Given the description of an element on the screen output the (x, y) to click on. 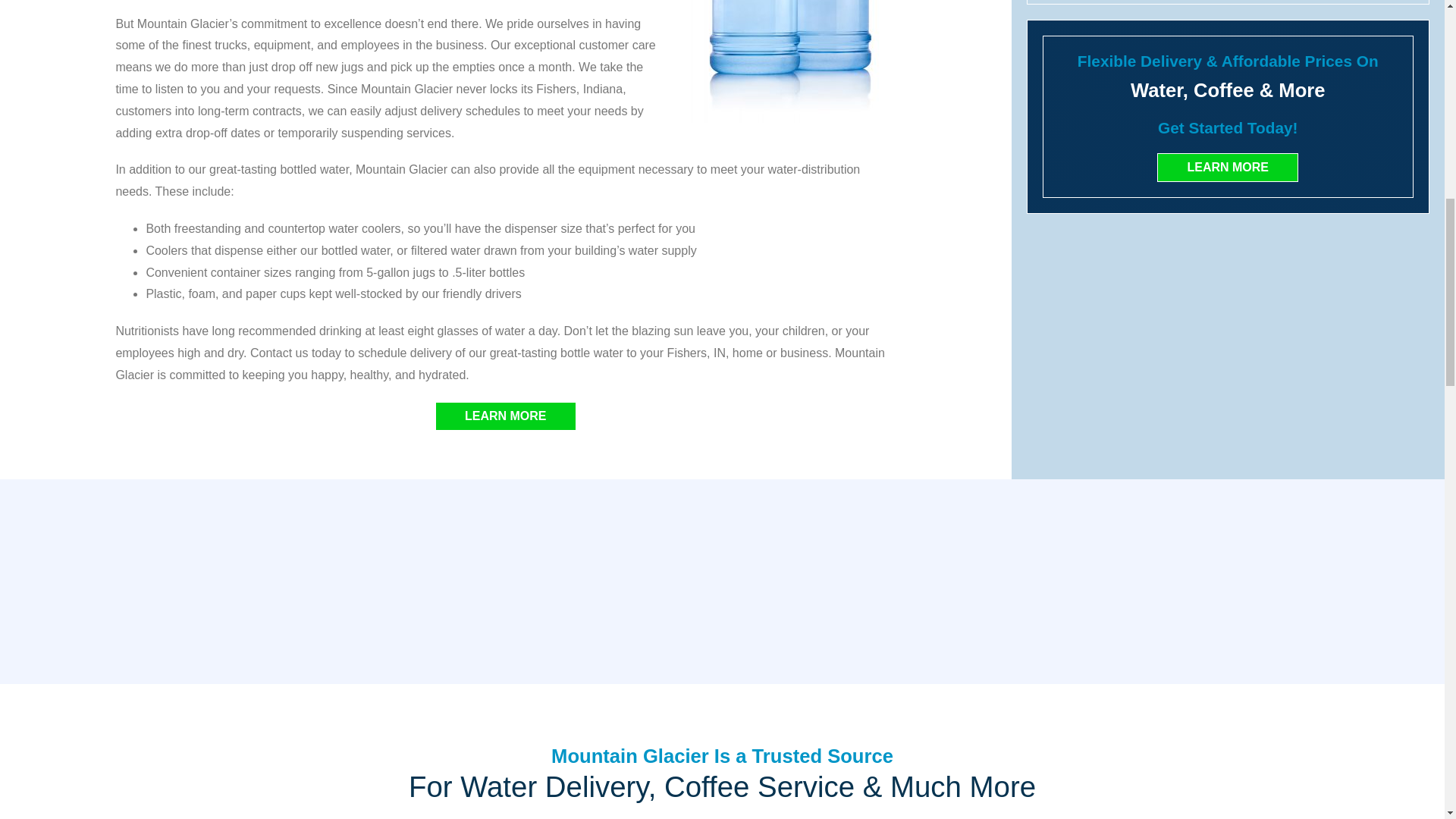
Bottled Water Fishers IN (789, 61)
